Given the description of an element on the screen output the (x, y) to click on. 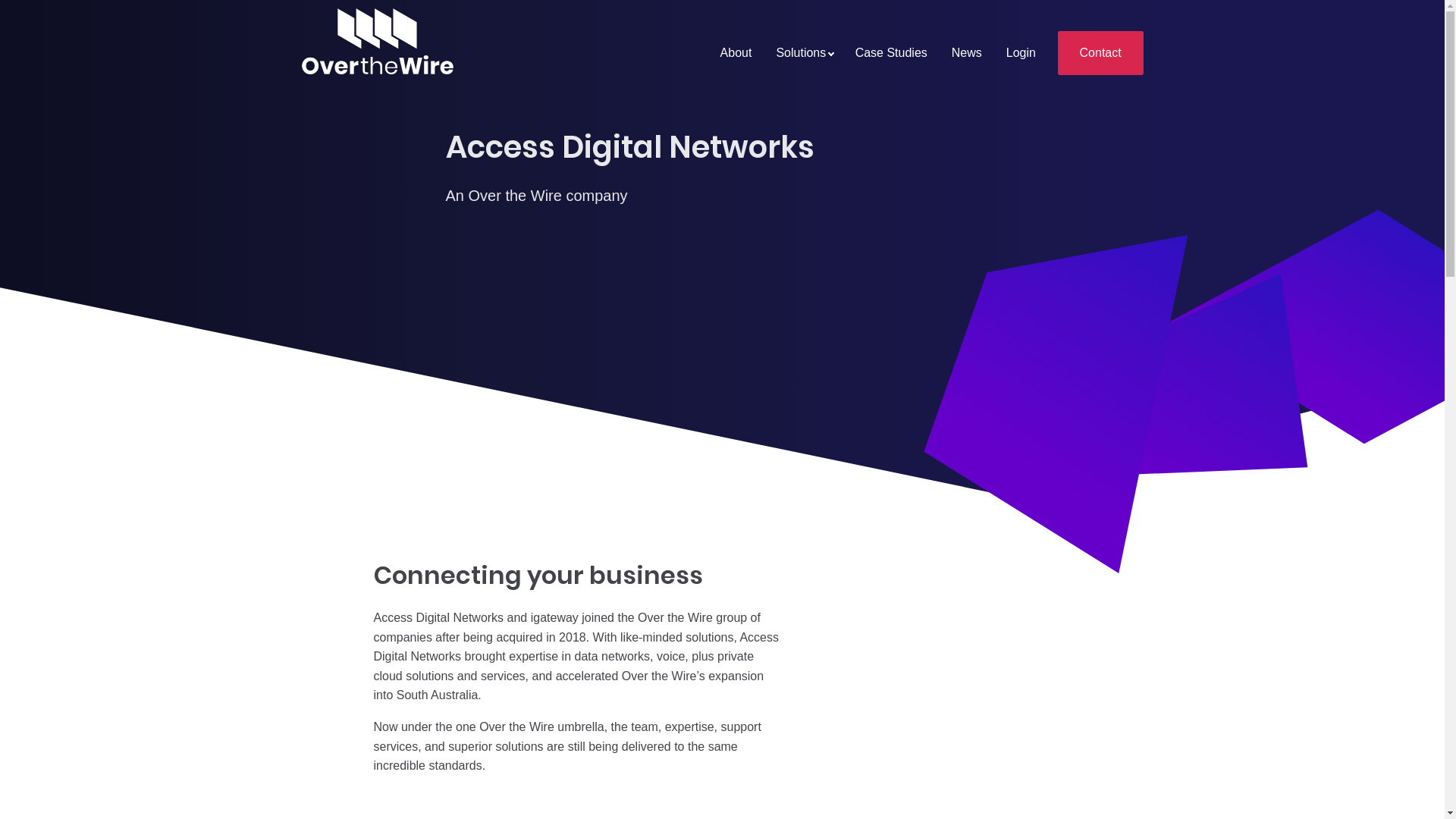
Case Studies Element type: text (891, 53)
News Element type: text (966, 53)
Solutions Element type: text (802, 53)
About Element type: text (736, 53)
Login Element type: text (1021, 53)
Contact Element type: text (1100, 53)
